Given the description of an element on the screen output the (x, y) to click on. 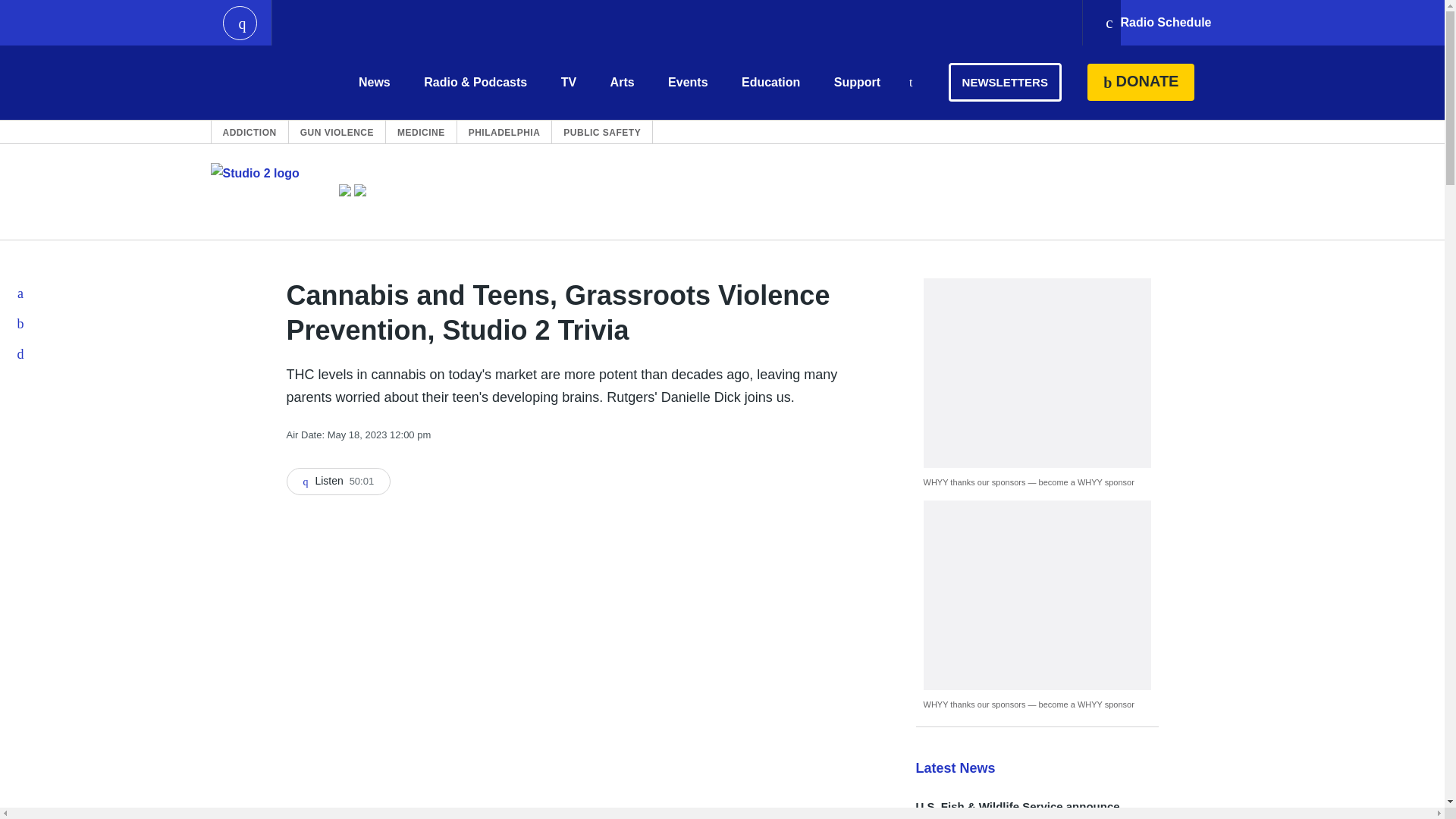
GUN VIOLENCE (336, 132)
Facebook (21, 292)
Radio Schedule (1157, 22)
Search (910, 83)
WHYY (266, 82)
MEDICINE (421, 132)
Email (21, 353)
ADDICTION (249, 132)
